Given the description of an element on the screen output the (x, y) to click on. 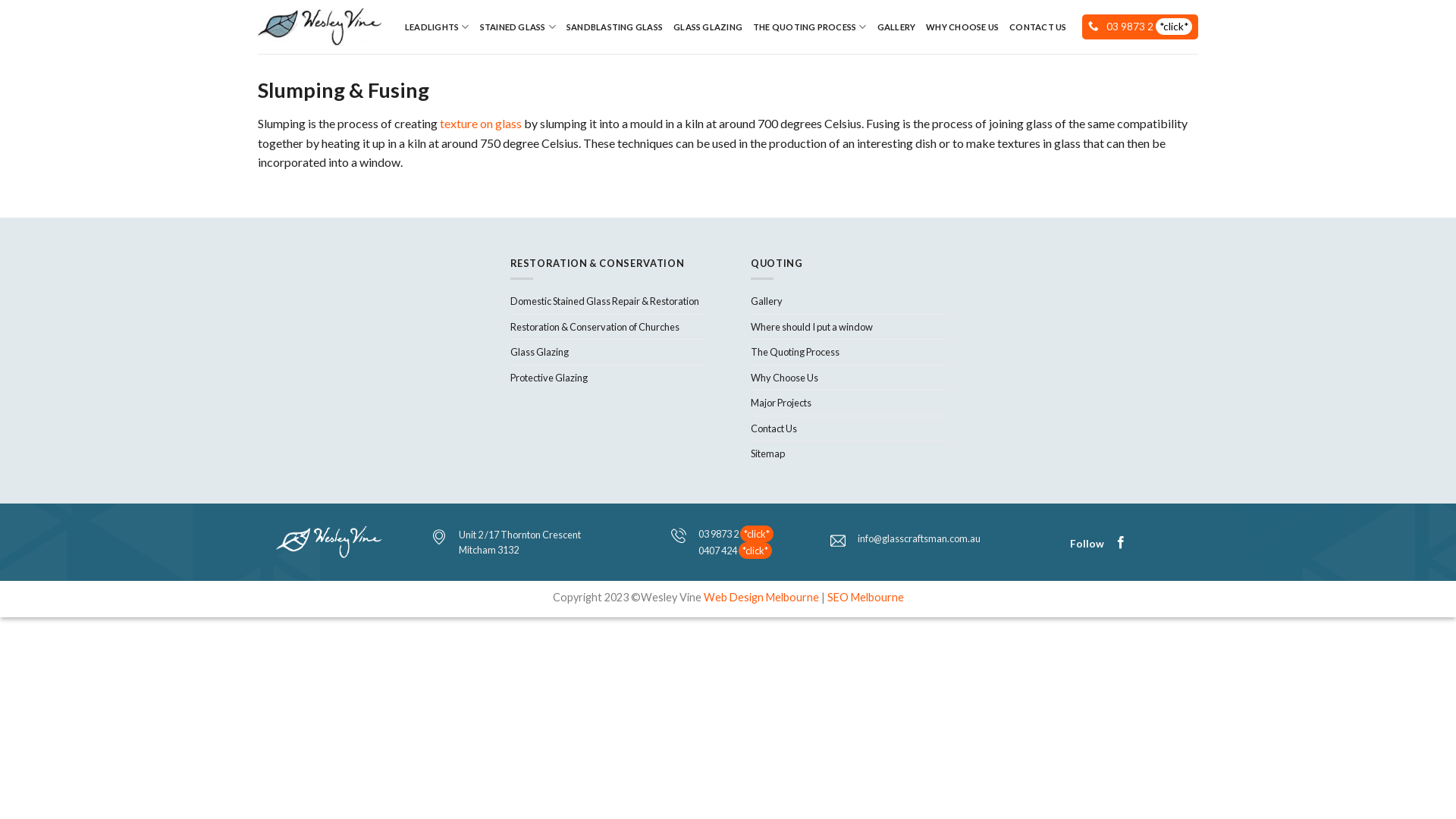
Contact Us Element type: text (773, 428)
GALLERY Element type: text (896, 26)
Follow on Facebook Element type: hover (1120, 542)
Major Projects Element type: text (780, 402)
Leadlight Windows Element type: hover (319, 27)
Why Choose Us Element type: text (784, 377)
STAINED GLASS Element type: text (517, 26)
info@glasscraftsman.com.au Element type: text (918, 538)
Gallery Element type: text (766, 300)
The Quoting Process Element type: text (794, 351)
SEO Melbourne Element type: text (864, 596)
Where should I put a window Element type: text (811, 326)
texture on glass Element type: text (480, 123)
0407 424 *click* Element type: text (734, 550)
03 9873 2 *click* Element type: text (1149, 26)
Protective Glazing Element type: text (547, 377)
Web Design Melbourne Element type: text (761, 596)
THE QUOTING PROCESS Element type: text (809, 26)
SANDBLASTING GLASS Element type: text (614, 26)
LEADLIGHTS Element type: text (436, 26)
03 9873 2 *click* Element type: text (735, 533)
WHY CHOOSE US Element type: text (961, 26)
Glass Glazing Element type: text (538, 351)
GLASS GLAZING Element type: text (707, 26)
Restoration & Conservation of Churches Element type: text (593, 326)
Domestic Stained Glass Repair & Restoration Element type: text (603, 300)
CONTACT US Element type: text (1037, 26)
Sitemap Element type: text (767, 453)
